Given the description of an element on the screen output the (x, y) to click on. 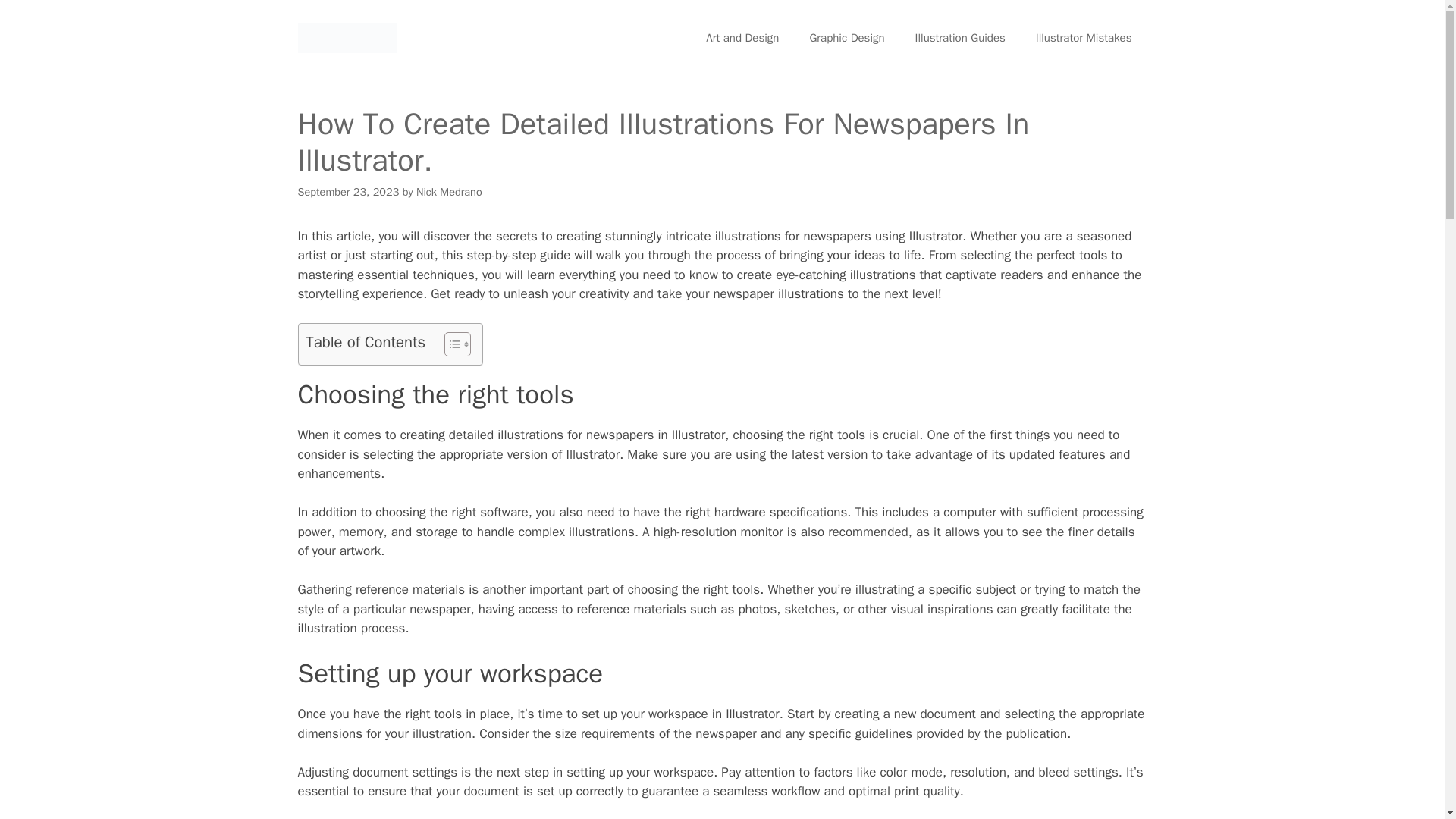
Illustrator Mistakes (1083, 37)
Graphic Design (846, 37)
Illustration Guides (959, 37)
View all posts by Nick Medrano (448, 192)
Nick Medrano (448, 192)
Art and Design (741, 37)
